Given the description of an element on the screen output the (x, y) to click on. 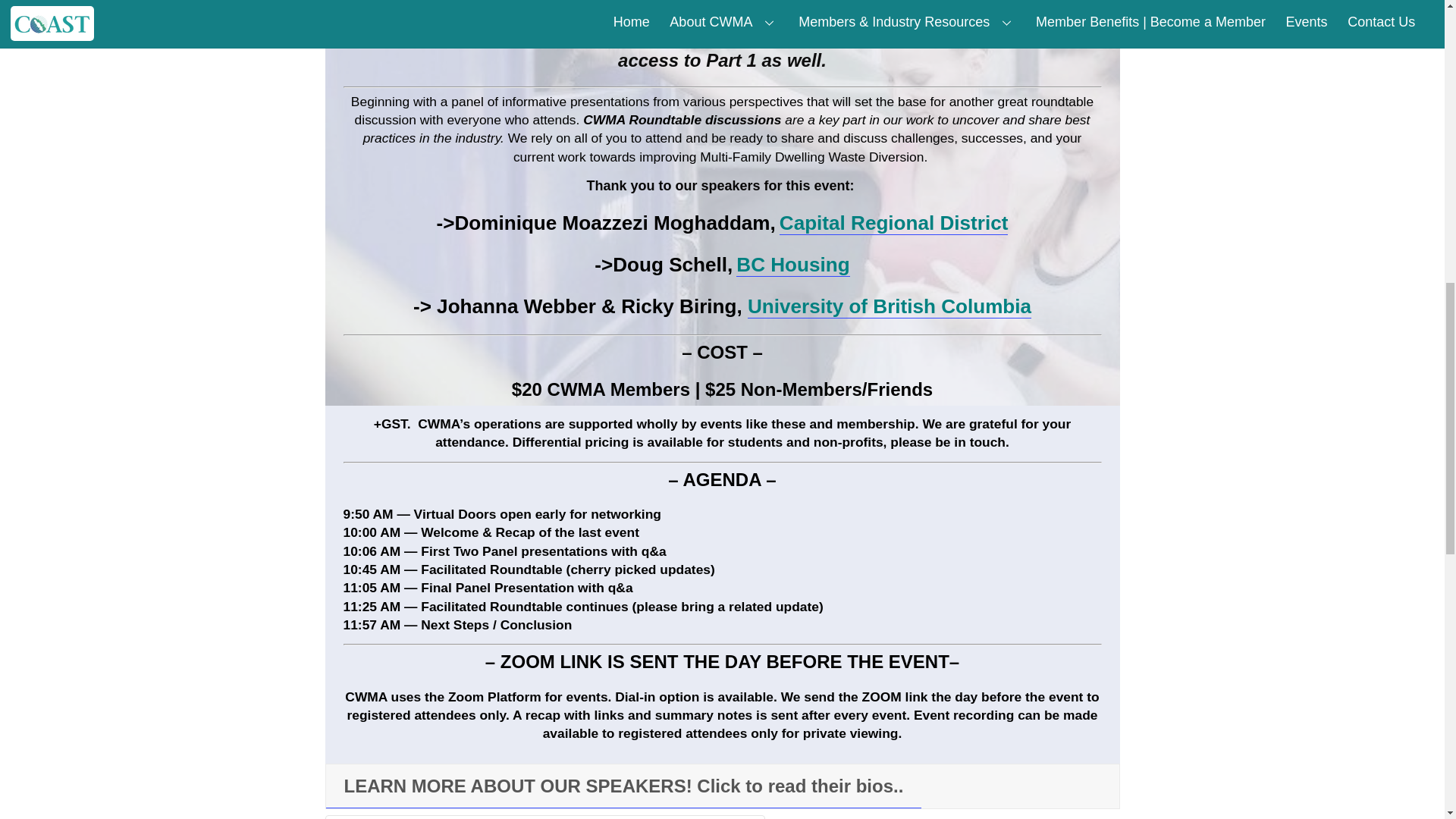
Capital Regional District (893, 223)
LEARN MORE ABOUT OUR SPEAKERS! Click to read their bios.. (623, 786)
BC Housing (792, 264)
University of British Columbia (889, 306)
